Given the description of an element on the screen output the (x, y) to click on. 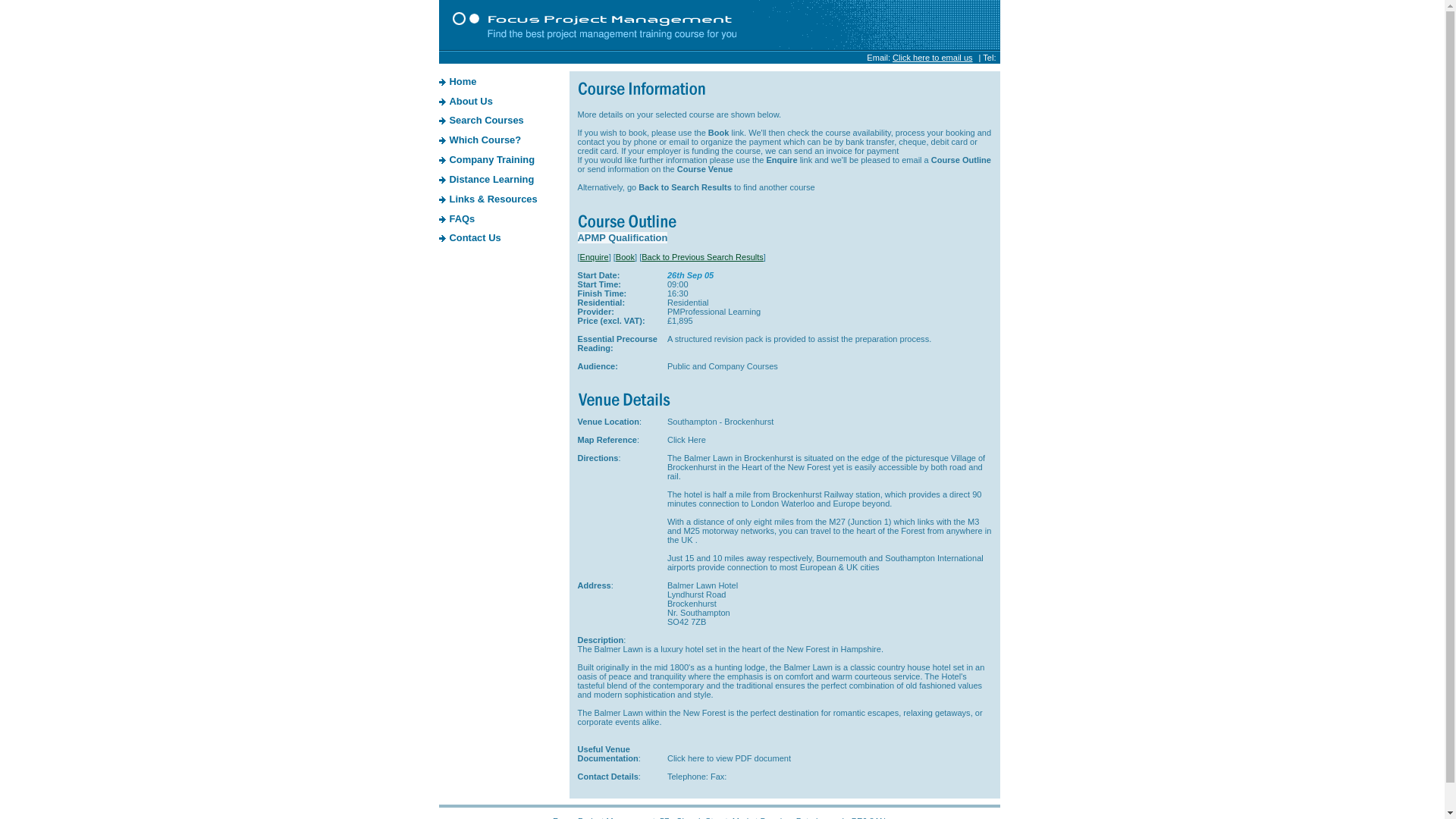
Company Training (491, 159)
Distance Learning (442, 179)
About Us (470, 101)
FAQs (461, 218)
Back to Previous Search Results (702, 256)
Home"" (442, 81)
Contact Us (474, 237)
Search Our Courses (485, 120)
Book (624, 256)
Contact Us (442, 237)
